Given the description of an element on the screen output the (x, y) to click on. 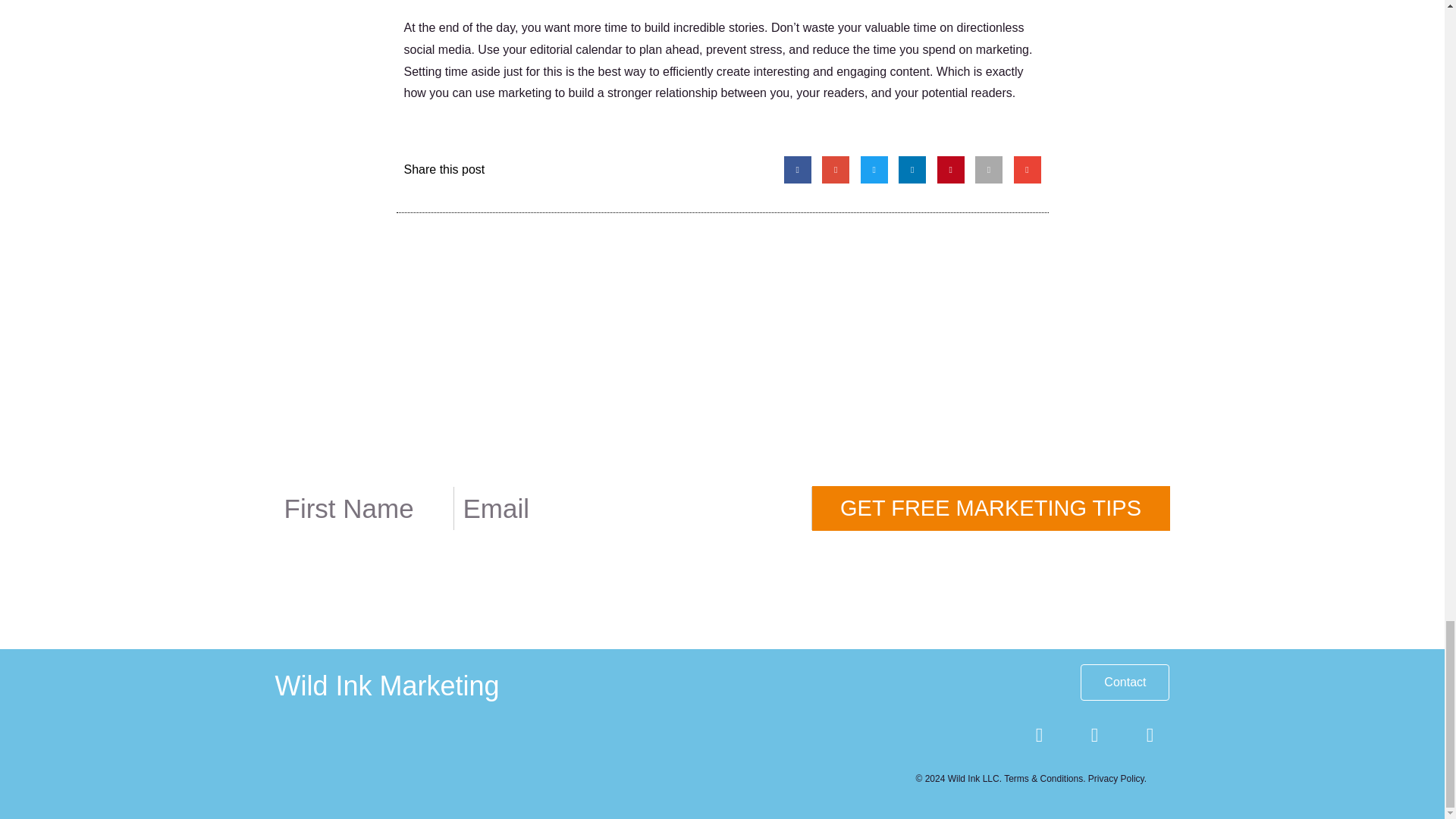
Wild Ink Marketing (387, 685)
Contact (1124, 682)
GET FREE MARKETING TIPS (989, 508)
Privacy Policy. (1117, 778)
